Given the description of an element on the screen output the (x, y) to click on. 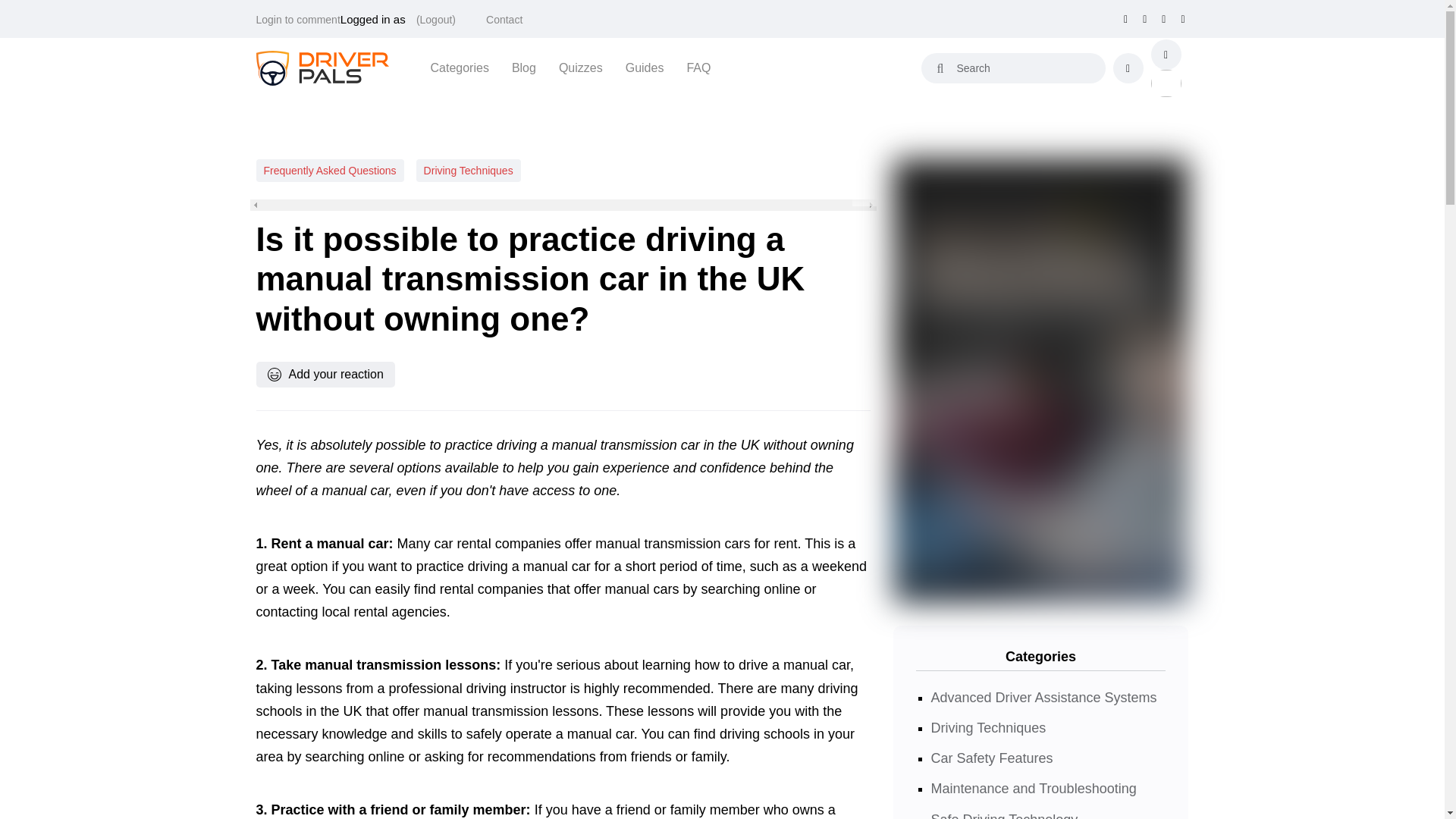
Contact (504, 19)
Categories (459, 67)
Login to comment (298, 19)
